Given the description of an element on the screen output the (x, y) to click on. 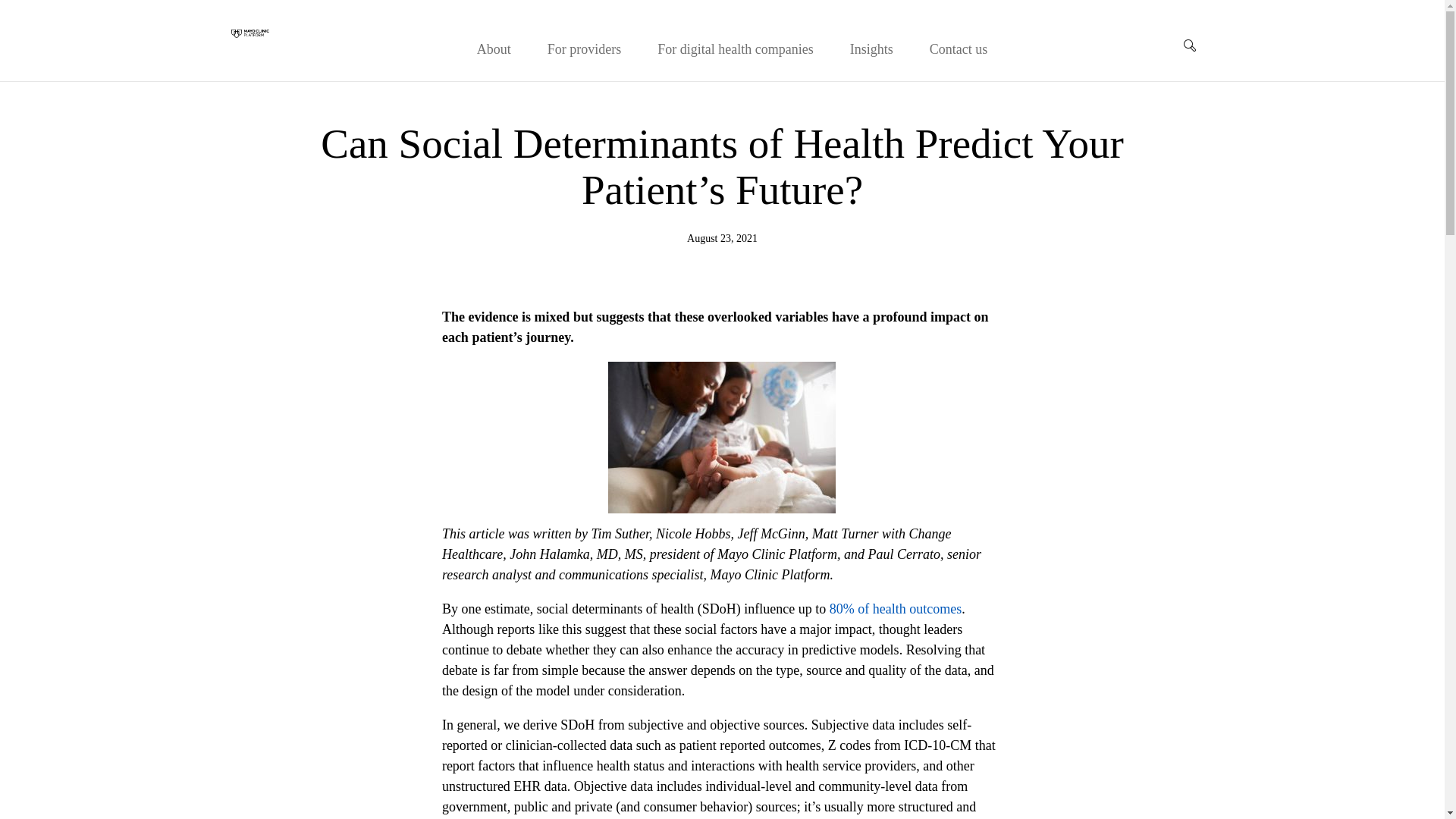
About (494, 49)
Contact us (959, 48)
Contact us (959, 48)
Insights (871, 48)
About (494, 49)
For providers (584, 49)
For digital health companies (735, 49)
For digital health companies (735, 49)
Insights (871, 48)
Mayo Clinic Platform Logo (248, 33)
For providers (584, 49)
